Given the description of an element on the screen output the (x, y) to click on. 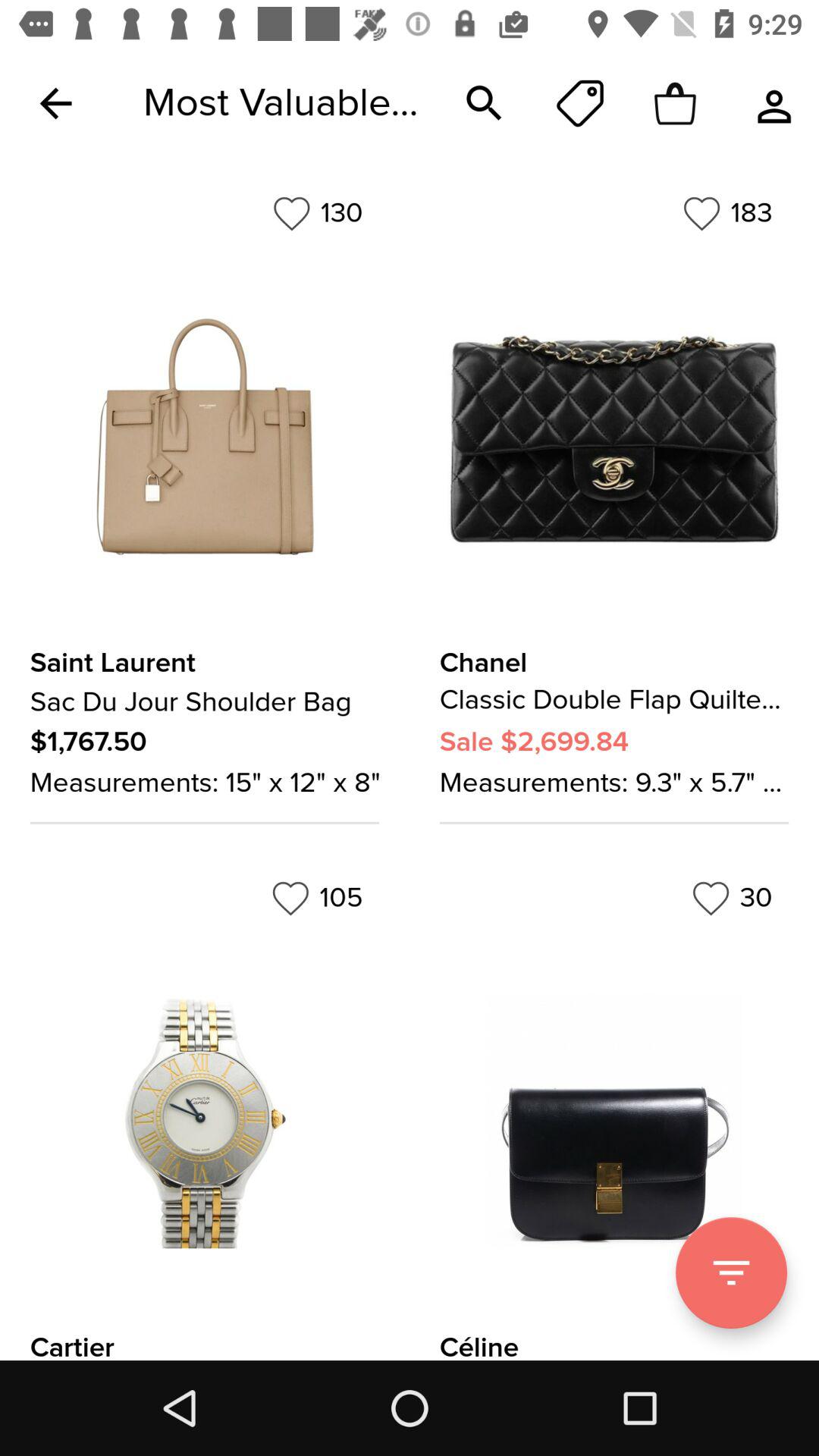
launch the item to the right of the 130 icon (727, 213)
